Given the description of an element on the screen output the (x, y) to click on. 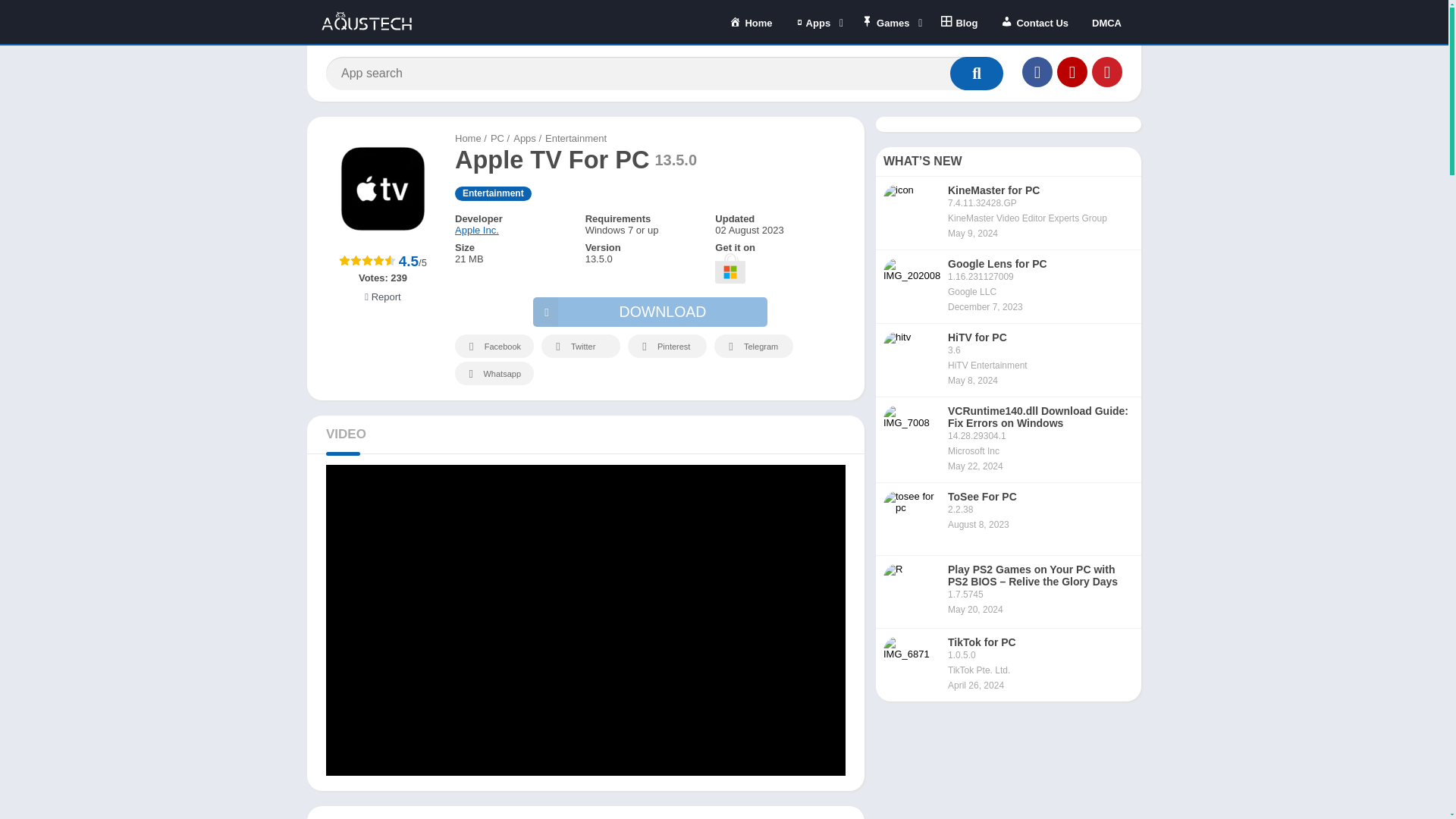
AQUS Tech (467, 138)
YouTube (1072, 71)
DOWNLOAD (649, 311)
Pinterest (1107, 71)
App search (976, 73)
Facebook (1037, 71)
